Given the description of an element on the screen output the (x, y) to click on. 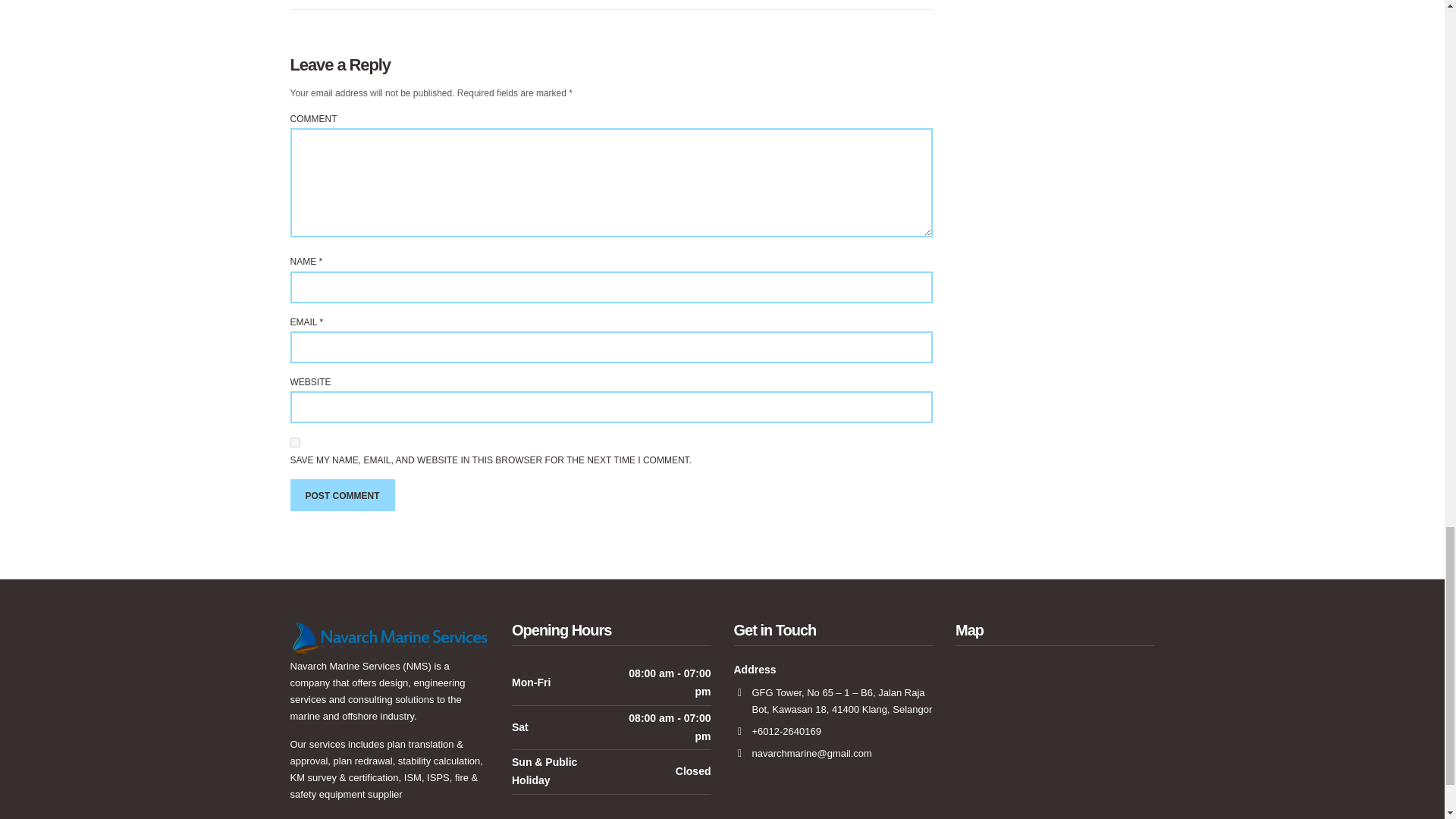
Post Comment (341, 495)
yes (294, 442)
Post Comment (341, 495)
